Given the description of an element on the screen output the (x, y) to click on. 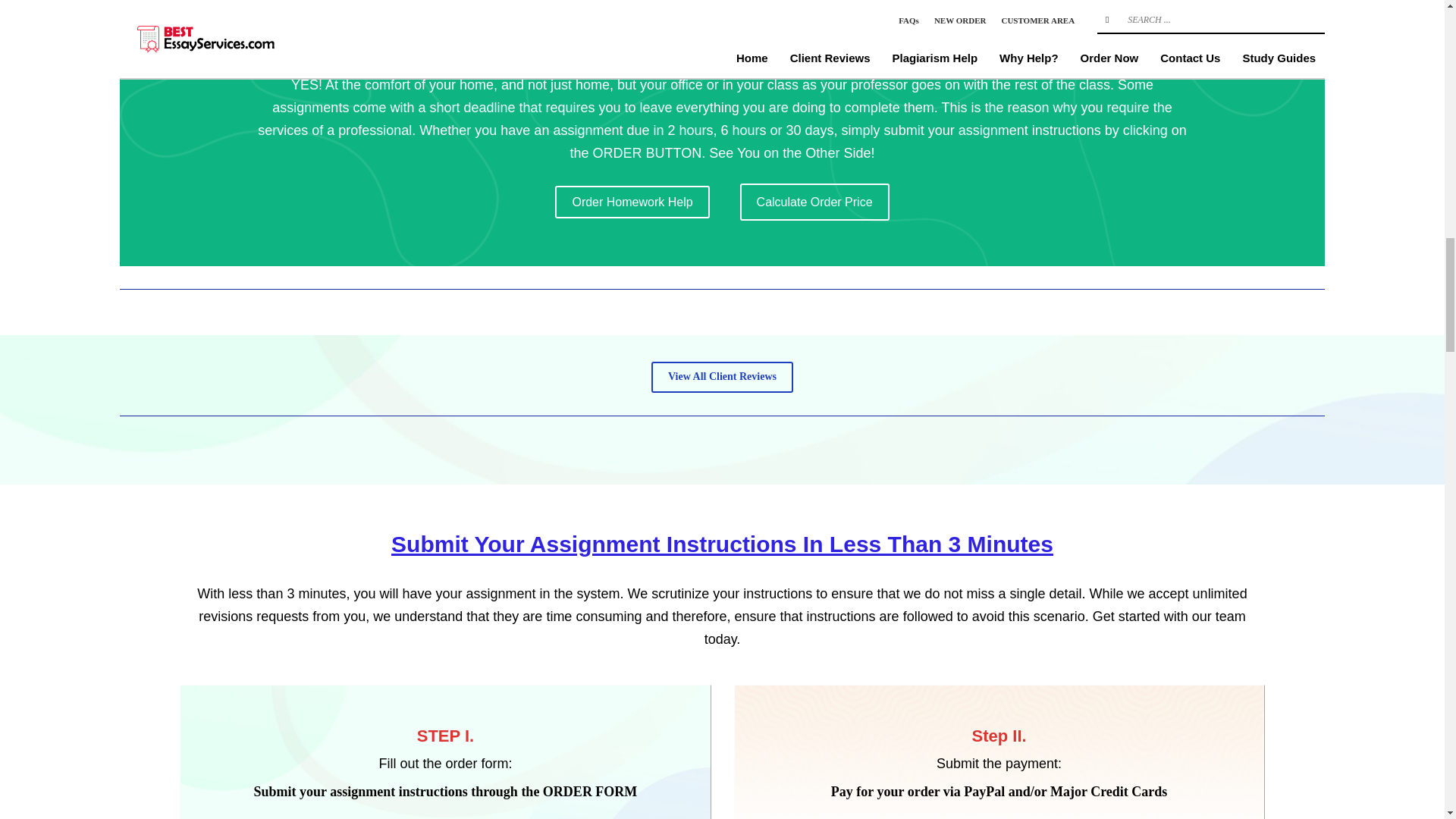
Calculate Order Price (814, 201)
Order Homework Help (631, 201)
View All Client Reviews (721, 377)
